Given the description of an element on the screen output the (x, y) to click on. 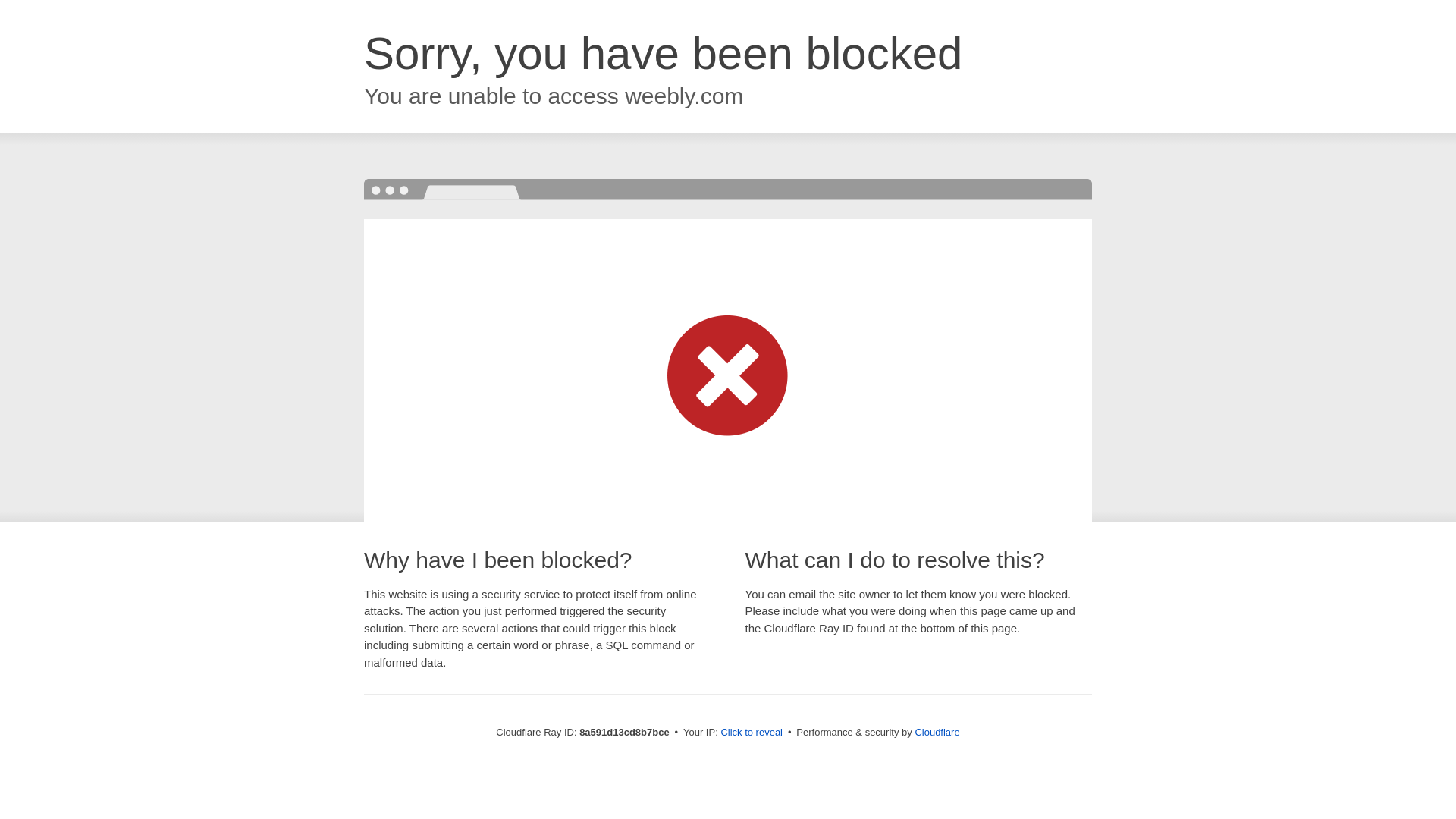
Cloudflare (936, 731)
Click to reveal (751, 732)
